Given the description of an element on the screen output the (x, y) to click on. 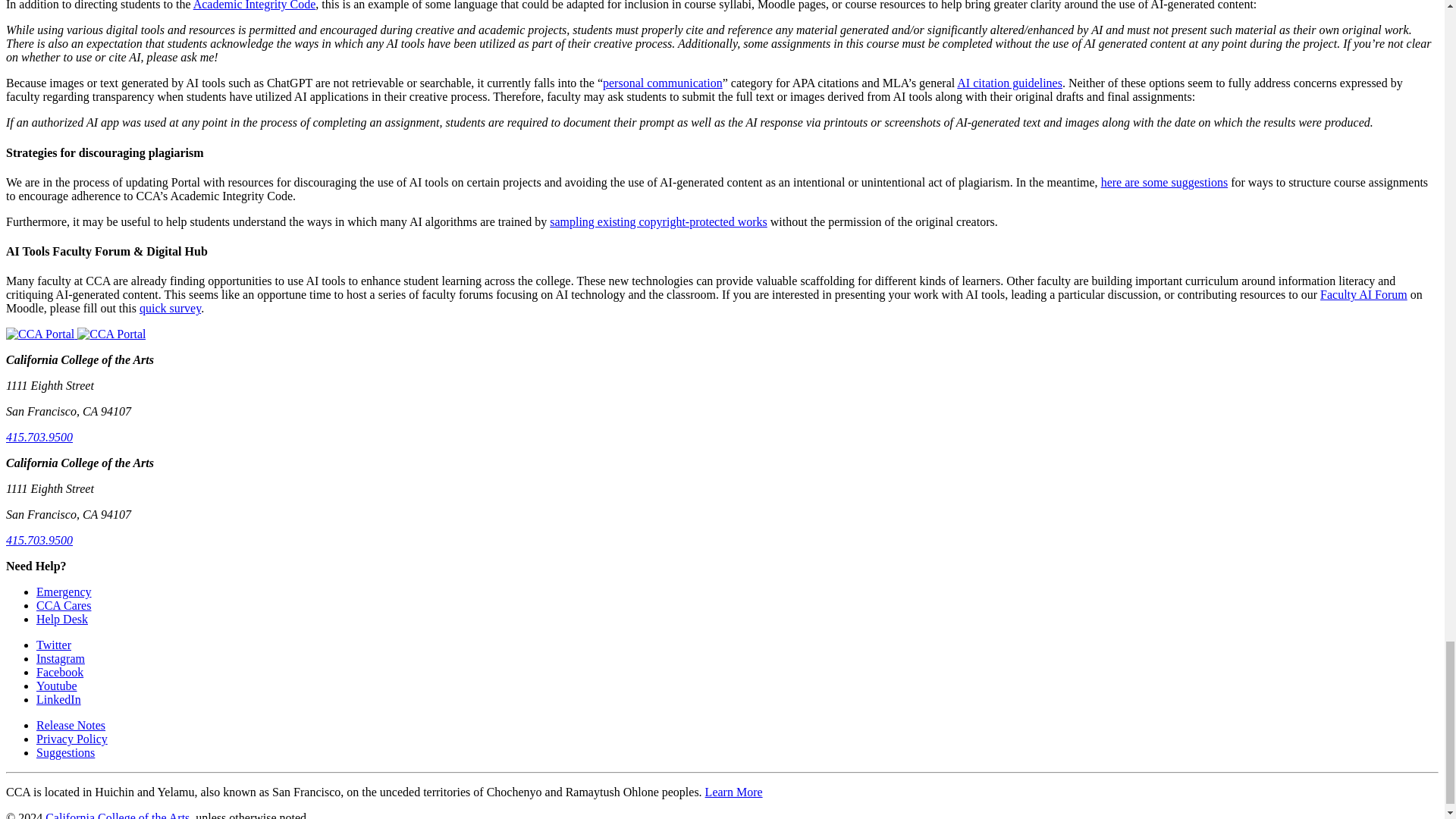
CCA Homepage (111, 333)
